Given the description of an element on the screen output the (x, y) to click on. 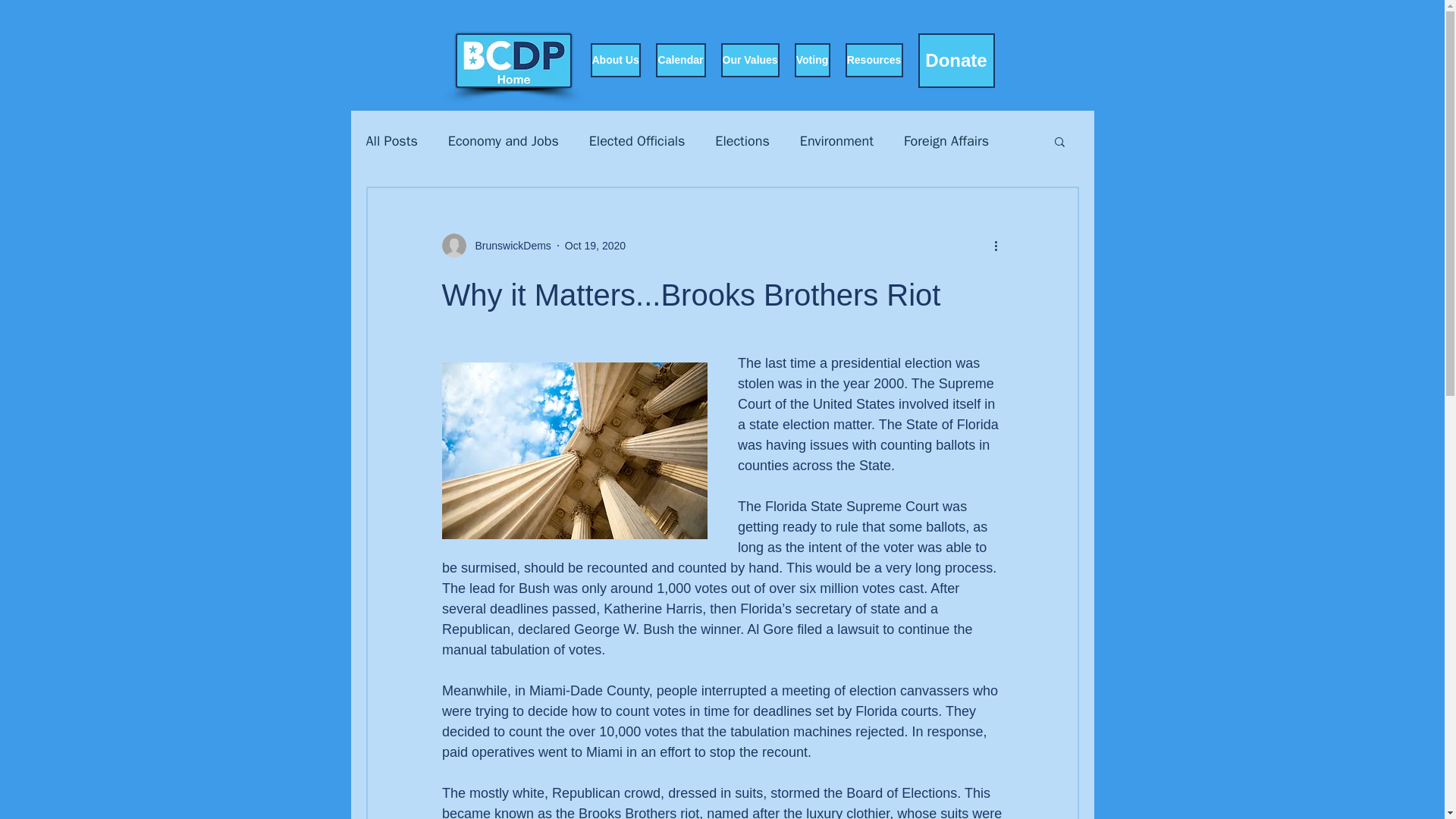
Elections (742, 140)
Foreign Affairs (946, 140)
Environment (836, 140)
Donate (955, 60)
About Us (614, 59)
Elected Officials (637, 140)
All Posts (390, 140)
BrunswickDems (507, 245)
Oct 19, 2020 (595, 245)
Calendar (679, 59)
